Given the description of an element on the screen output the (x, y) to click on. 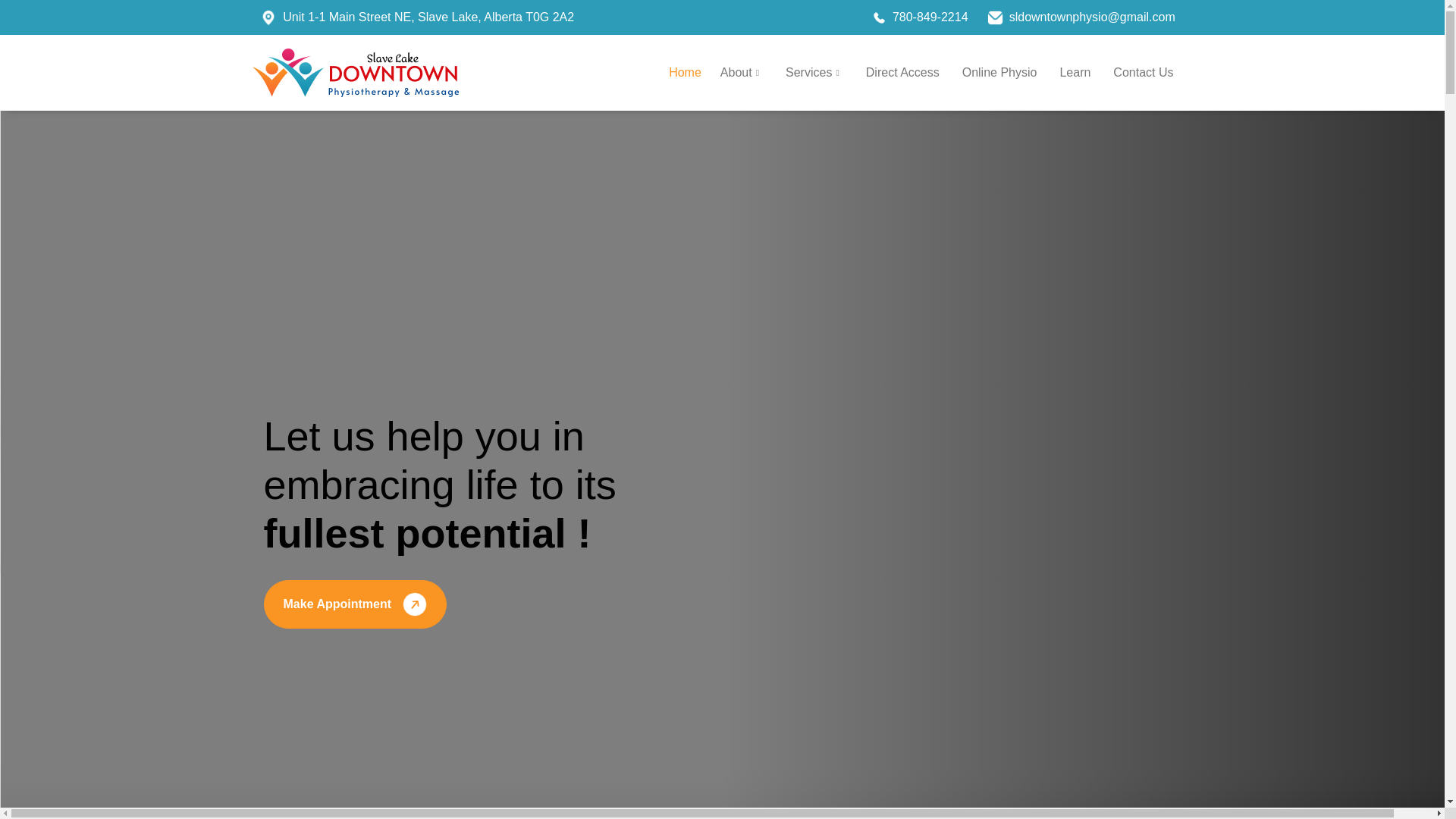
About (741, 72)
Online Physio (1000, 72)
780-849-2214 (930, 16)
Direct Access (903, 72)
Home (685, 72)
Make Appointment (354, 603)
Services (813, 72)
Contact Us (1142, 72)
Learn (1074, 72)
